Given the description of an element on the screen output the (x, y) to click on. 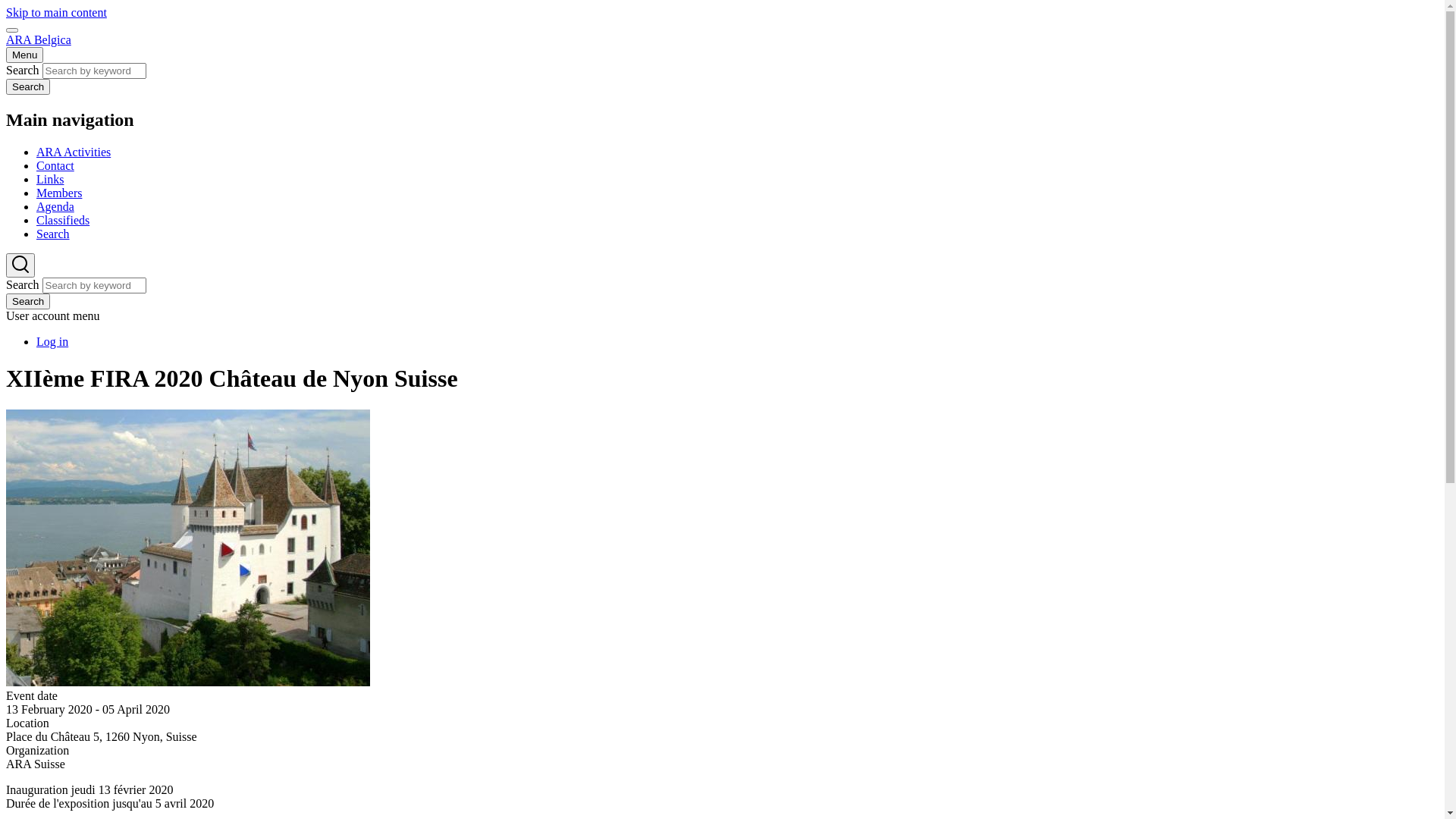
Search Element type: text (28, 301)
Classifieds Element type: text (62, 219)
ARA Activities Element type: text (73, 151)
Skip to main content Element type: text (56, 12)
Members Element type: text (58, 192)
Enter the terms you wish to search for. Element type: hover (94, 70)
Enter the terms you wish to search for. Element type: hover (94, 285)
Search Element type: text (52, 233)
Menu Element type: text (24, 54)
ARA Belgica Element type: text (38, 39)
Search Element type: text (28, 86)
Agenda Element type: text (55, 206)
Contact Element type: text (55, 165)
Log in Element type: text (52, 341)
Links Element type: text (49, 178)
